Given the description of an element on the screen output the (x, y) to click on. 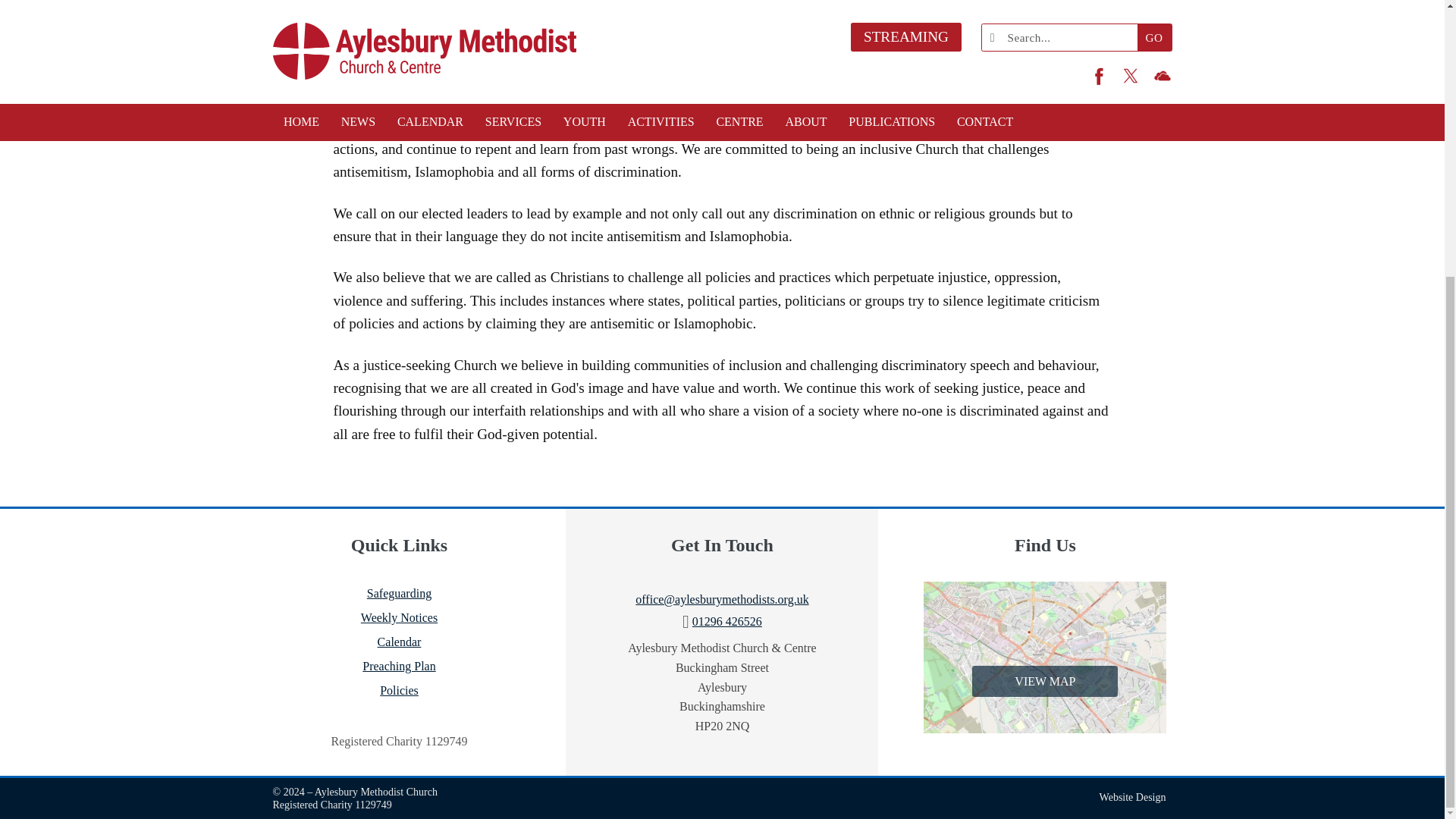
Policies (398, 690)
01296 426526 (727, 621)
Website Design (1132, 798)
VIEW MAP (1045, 657)
Call now (727, 621)
Weekly Notices (398, 617)
Preaching Plan (398, 666)
Safeguarding (398, 593)
Calendar (398, 641)
